Given the description of an element on the screen output the (x, y) to click on. 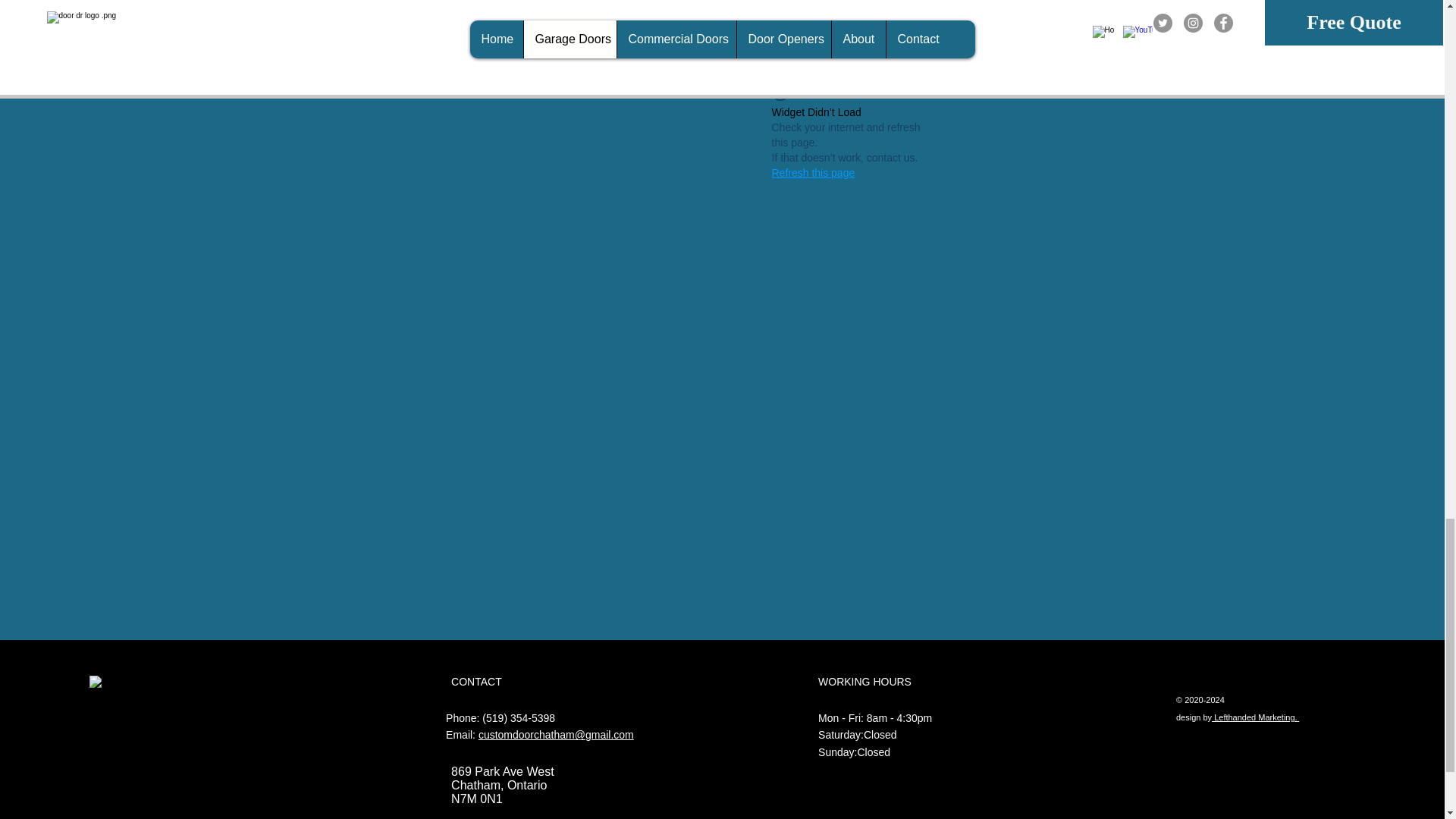
Lefthanded Marketing.  (1254, 716)
Refresh this page (813, 172)
